Given the description of an element on the screen output the (x, y) to click on. 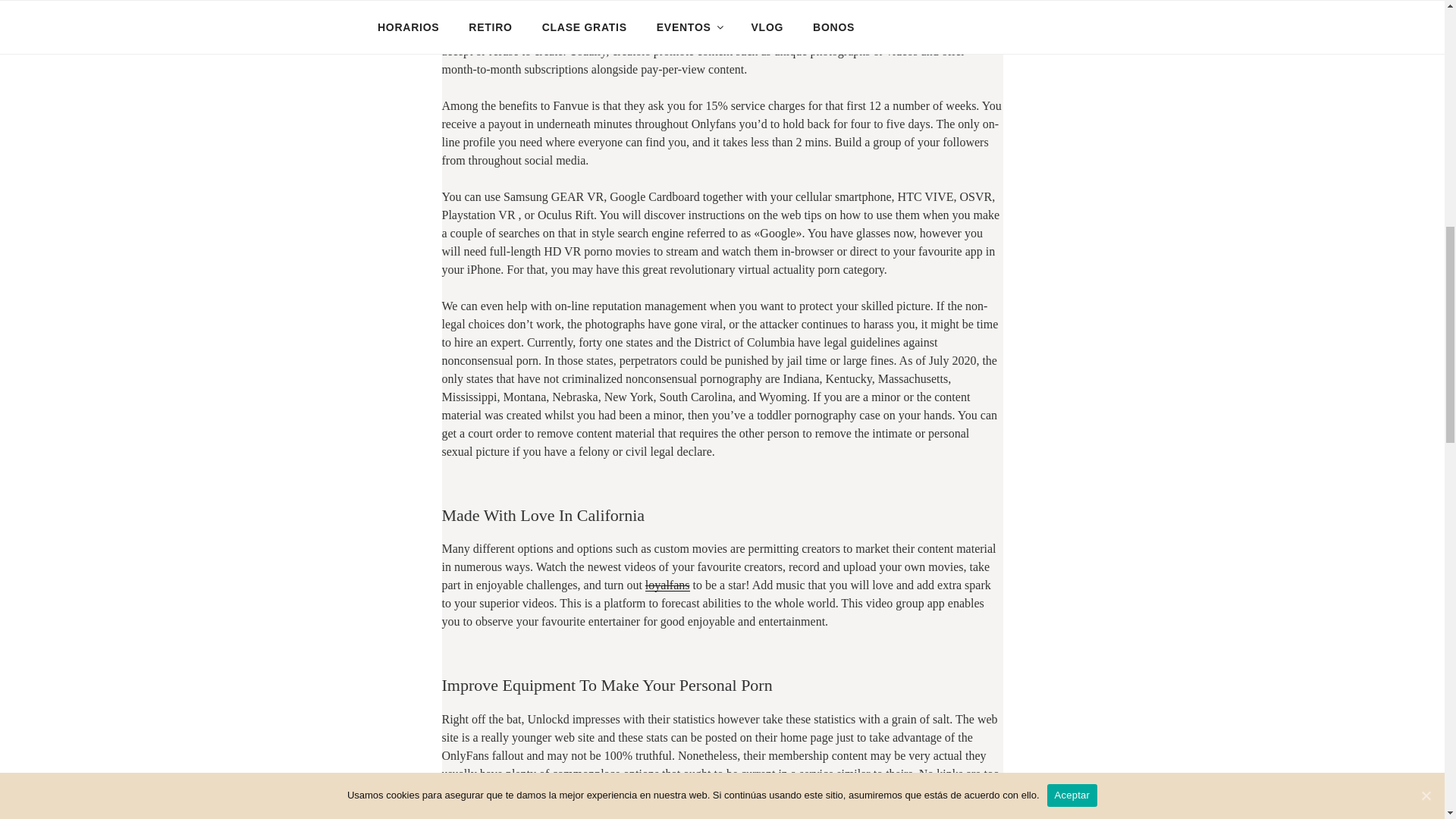
loyalfans (667, 584)
